Given the description of an element on the screen output the (x, y) to click on. 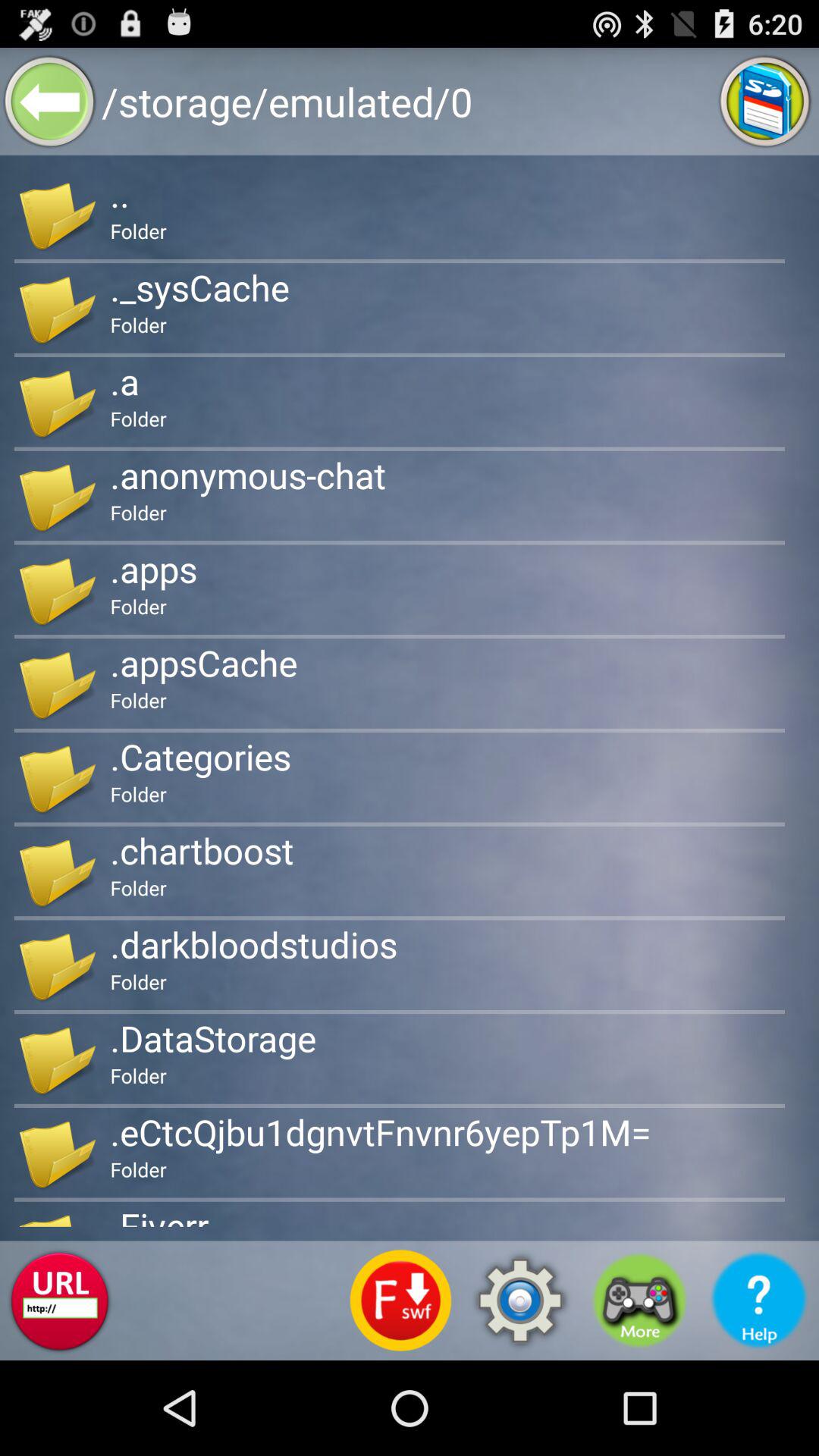
go to the settings page (520, 1300)
